Given the description of an element on the screen output the (x, y) to click on. 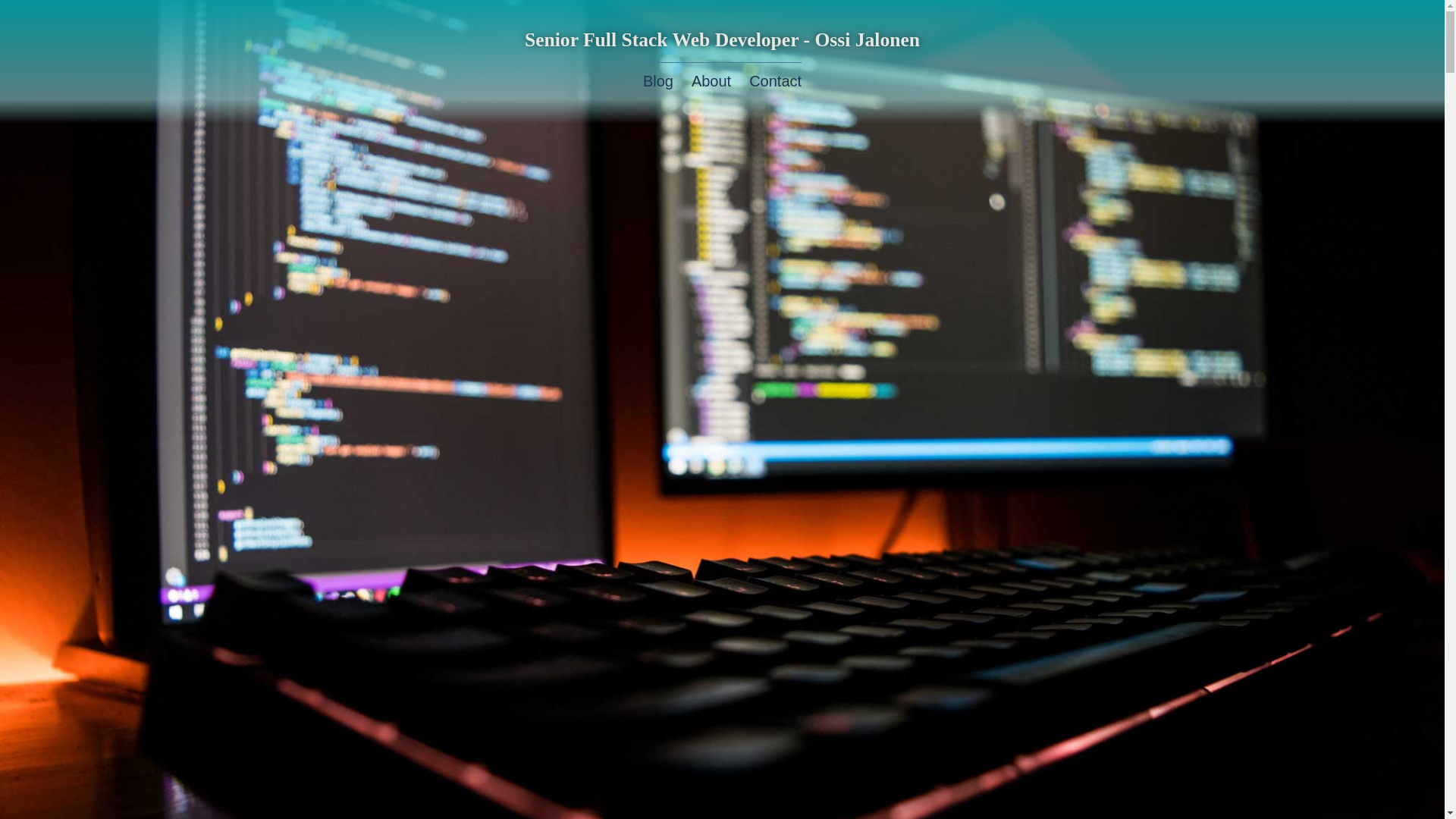
Senior Full Stack Web Developer - Ossi Jalonen (722, 39)
Contact (775, 80)
Blog (657, 80)
About (710, 80)
